Given the description of an element on the screen output the (x, y) to click on. 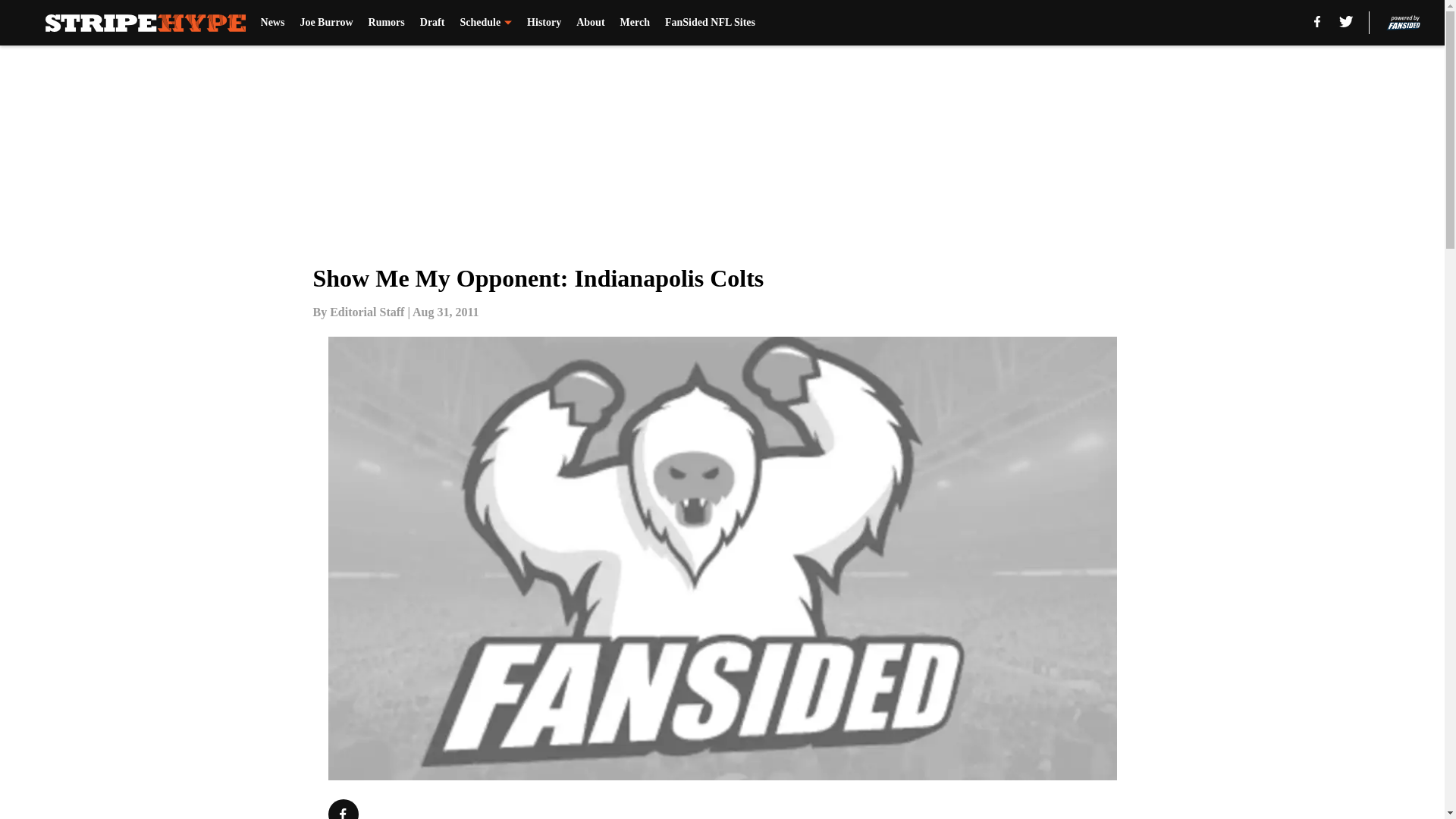
Merch (634, 22)
History (543, 22)
Draft (432, 22)
Joe Burrow (325, 22)
News (272, 22)
Rumors (386, 22)
FanSided NFL Sites (710, 22)
About (590, 22)
